Given the description of an element on the screen output the (x, y) to click on. 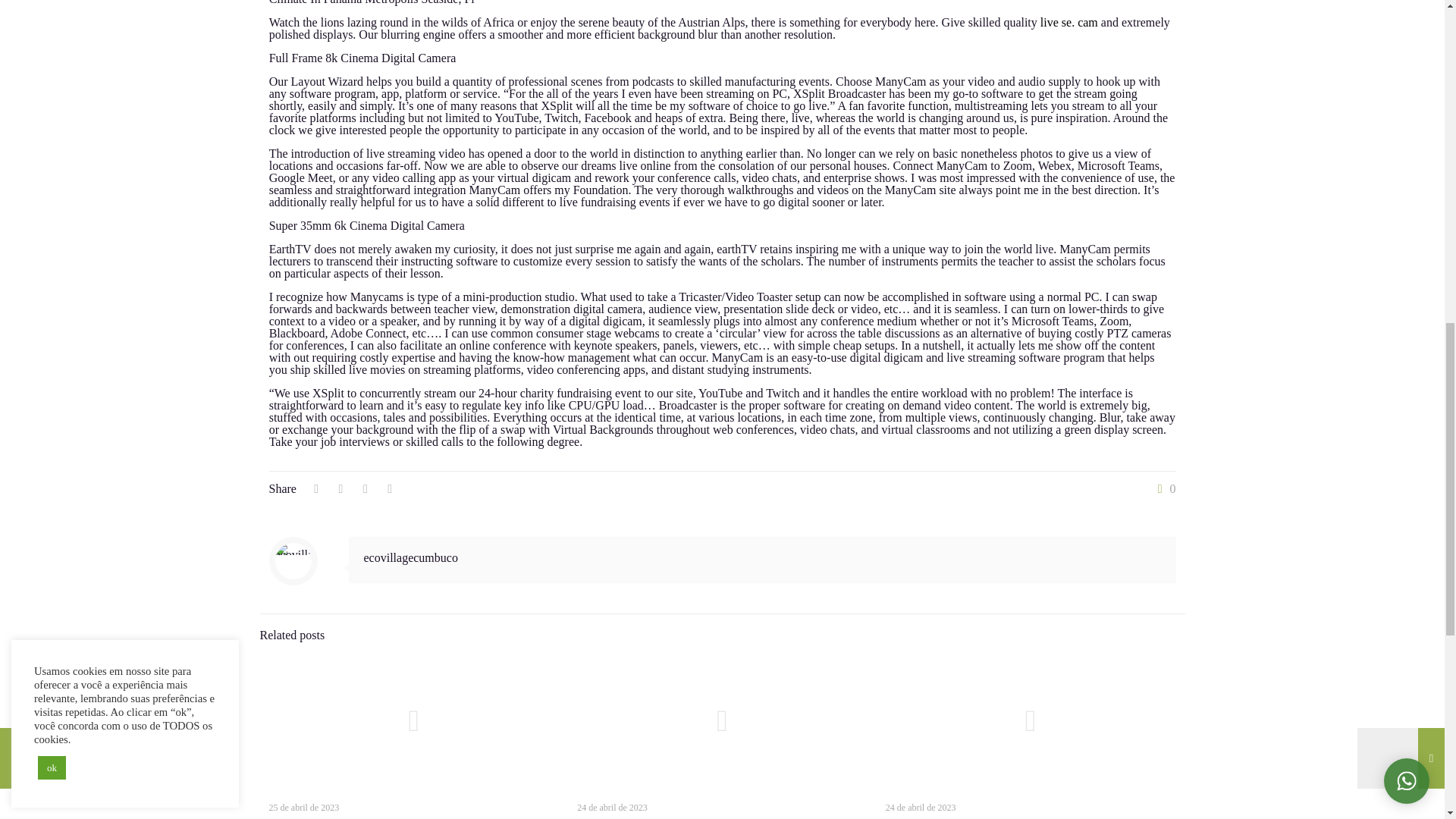
0 (1162, 489)
live se. cam (1069, 21)
ecovillagecumbuco (411, 557)
